Given the description of an element on the screen output the (x, y) to click on. 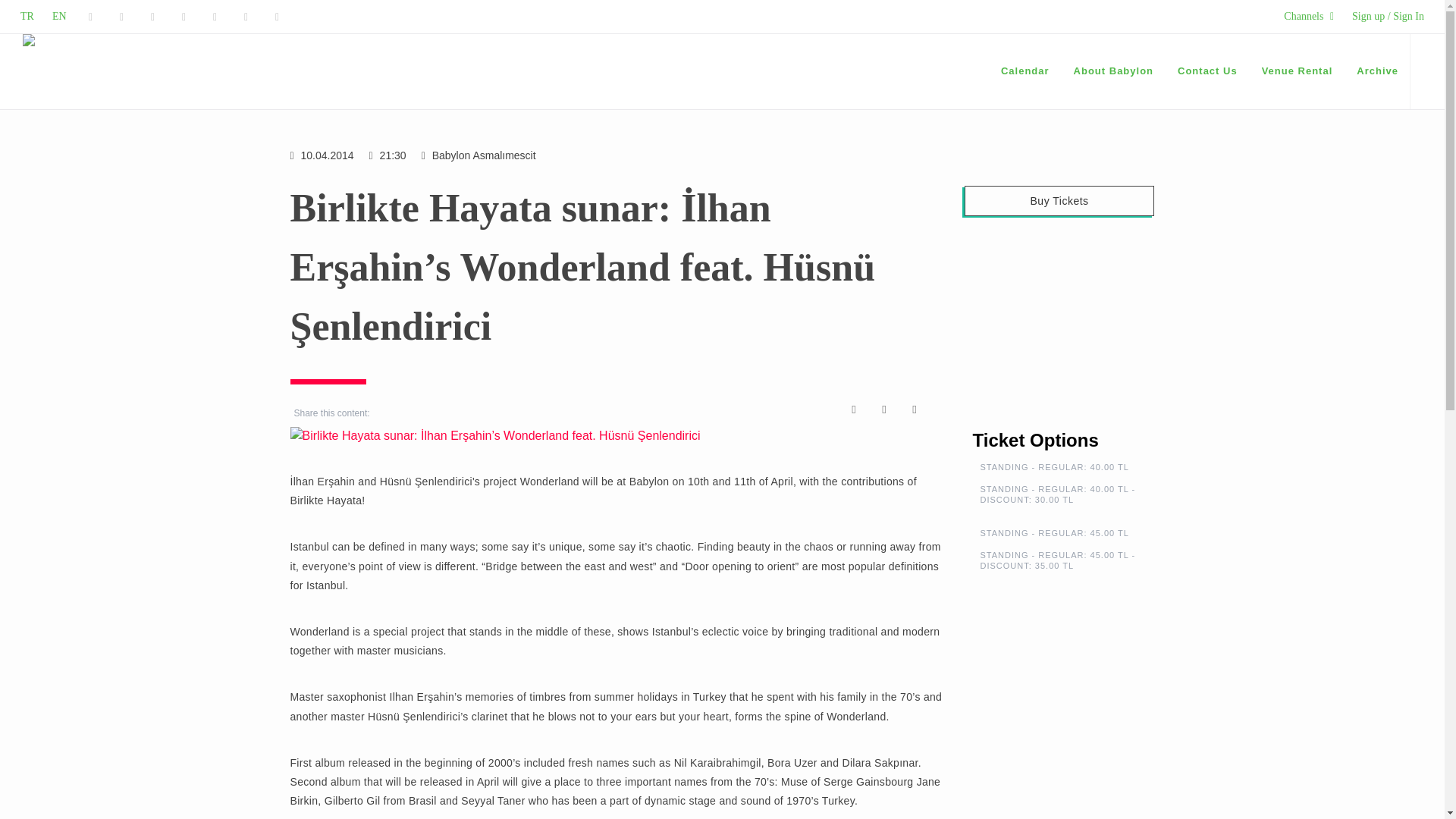
Contact Us (1207, 71)
Buy Tickets (1058, 200)
Calendar (1025, 71)
Channels (1308, 16)
EN (59, 16)
Venue Rental (1296, 71)
About Babylon (1113, 71)
TR (27, 16)
